Given the description of an element on the screen output the (x, y) to click on. 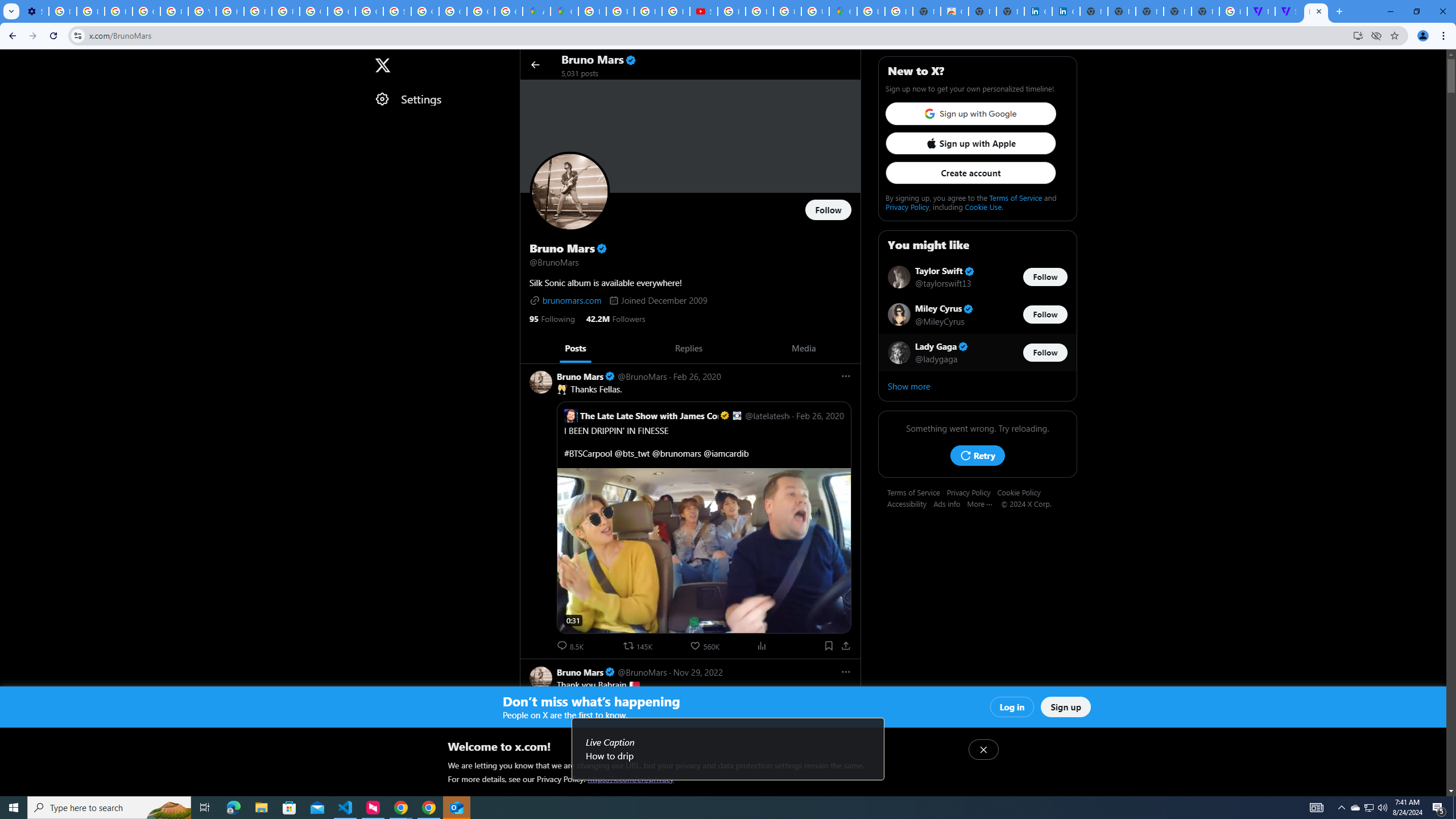
Next (847, 347)
Cookie Policy | LinkedIn (1038, 11)
YouTube (202, 11)
Accessibility (909, 503)
Install X (1358, 35)
Verified account (963, 346)
Reload (52, 35)
Minimize (1390, 11)
Cookie Policy | LinkedIn (1065, 11)
Follow @taylorswift13 (1045, 276)
Privacy Help Center - Policies Help (620, 11)
brunomars.com (565, 300)
Privacy Help Center - Policies Help (647, 11)
